Given the description of an element on the screen output the (x, y) to click on. 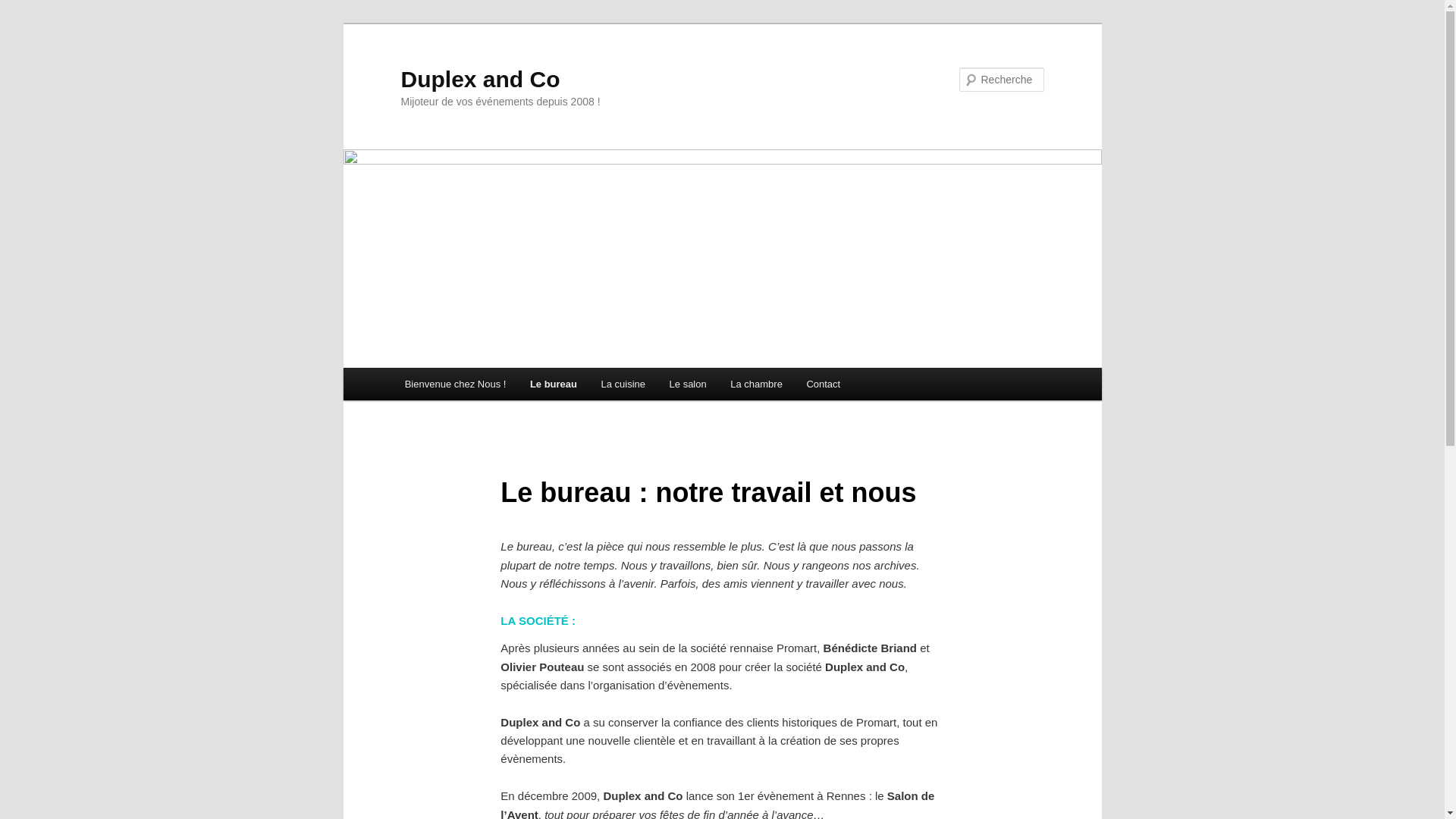
Contact Element type: text (823, 383)
Duplex and Co Element type: text (479, 78)
Le salon Element type: text (687, 383)
La chambre Element type: text (755, 383)
Bienvenue chez Nous ! Element type: text (454, 383)
Aller au contenu principal Element type: text (22, 22)
Le bureau Element type: text (553, 383)
La cuisine Element type: text (623, 383)
Recherche Element type: text (33, 8)
